Given the description of an element on the screen output the (x, y) to click on. 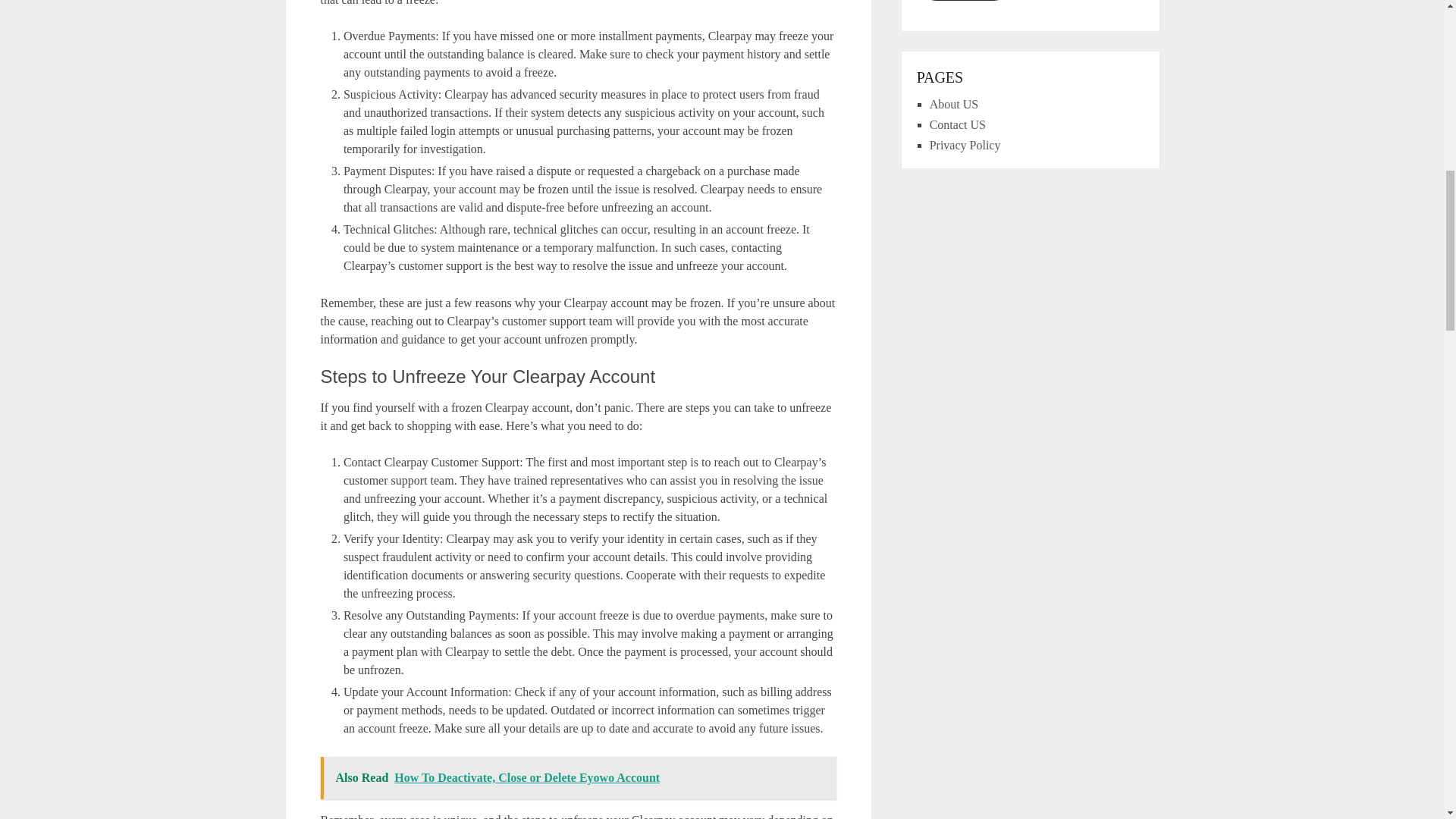
Also Read  How To Deactivate, Close or Delete Eyowo Account (577, 777)
